Given the description of an element on the screen output the (x, y) to click on. 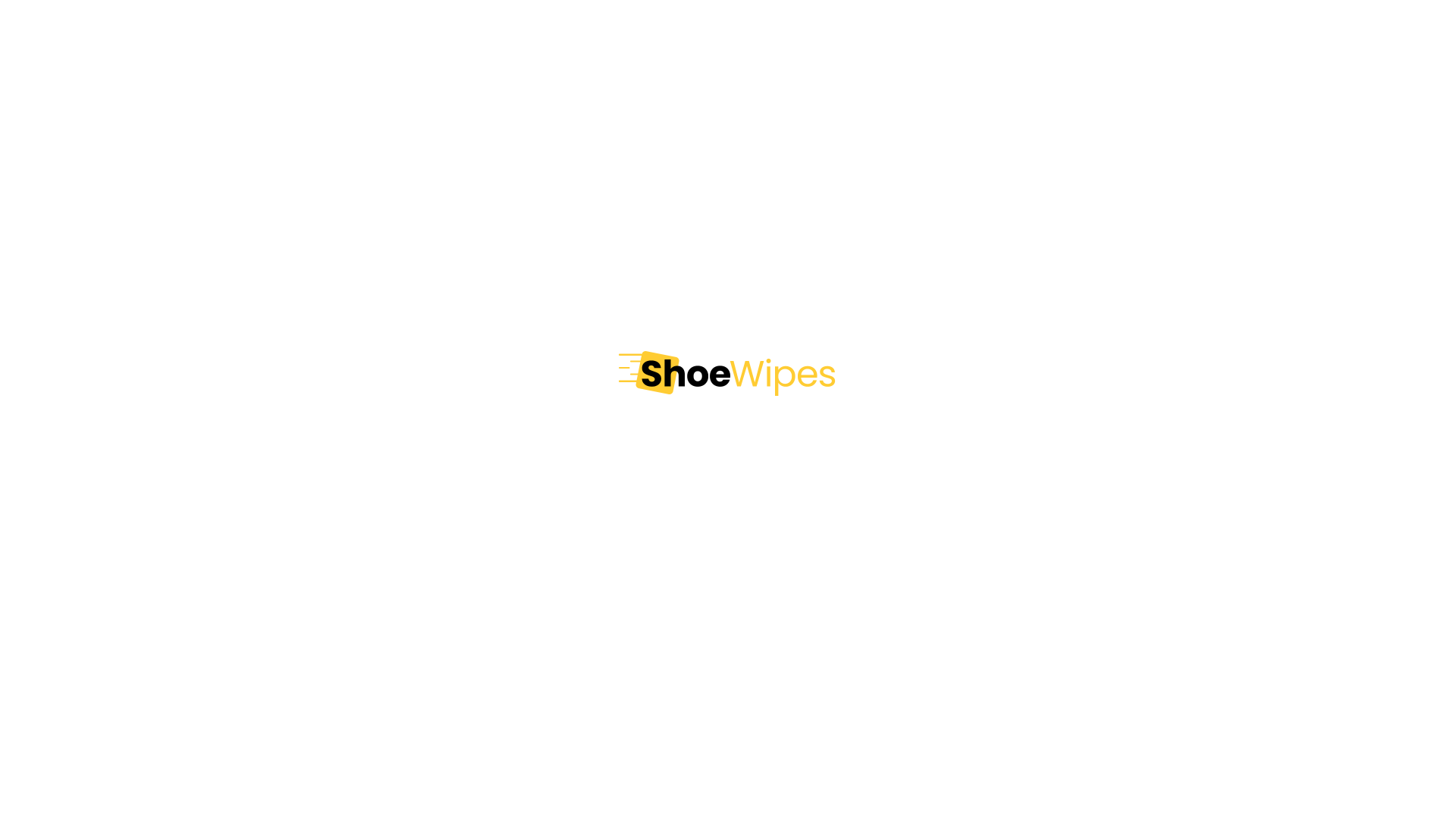
Shoe Wipes Element type: hover (727, 372)
